Given the description of an element on the screen output the (x, y) to click on. 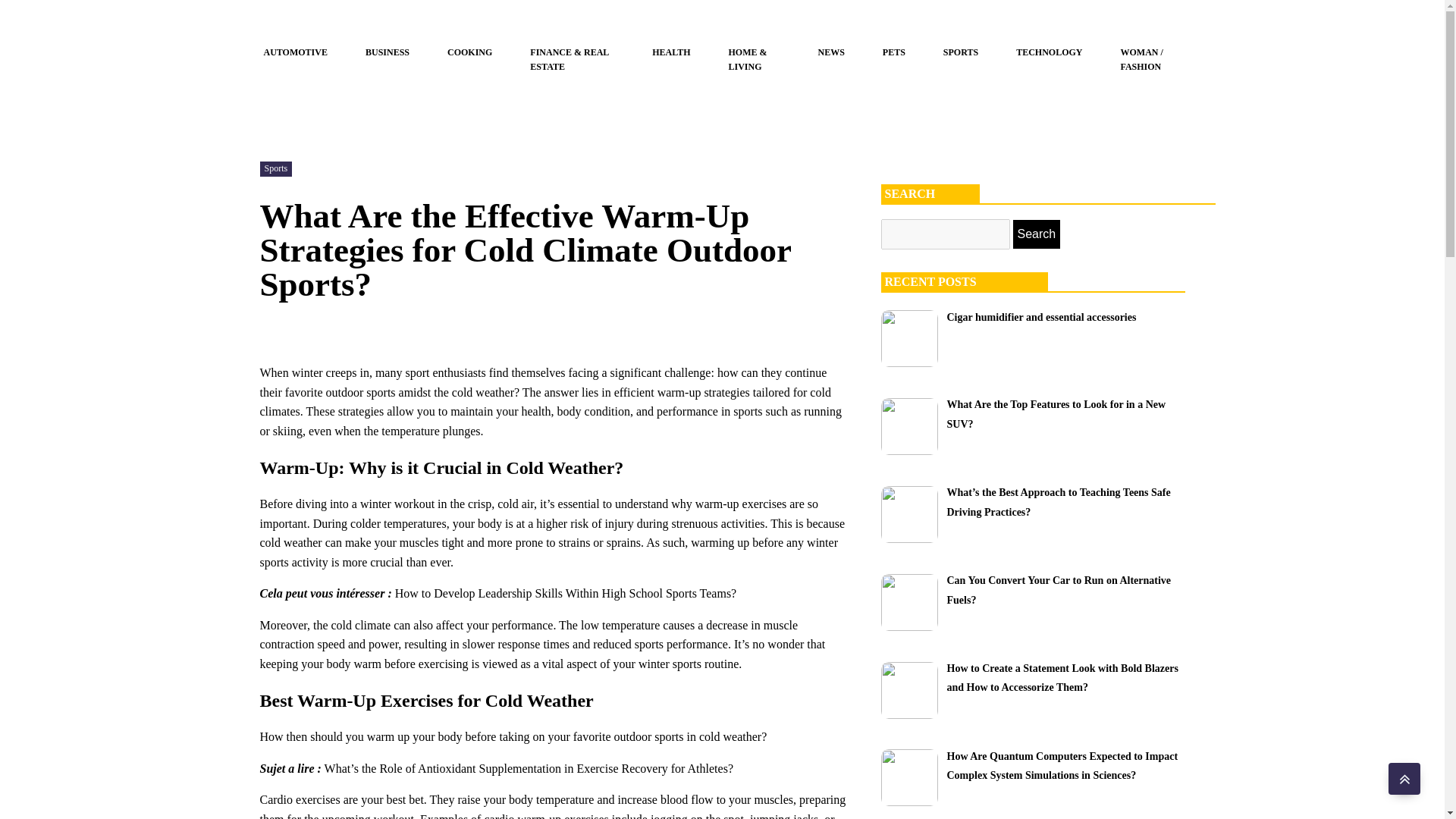
Cigar humidifier and essential accessories (1040, 316)
SPORTS (960, 52)
HEALTH (671, 52)
What Are the Top Features to Look for in a New SUV? (1056, 413)
TECHNOLOGY (1048, 52)
PETS (893, 52)
Sports (274, 167)
AUTOMOTIVE (295, 52)
BUSINESS (387, 52)
COOKING (469, 52)
NEWS (831, 52)
